Given the description of an element on the screen output the (x, y) to click on. 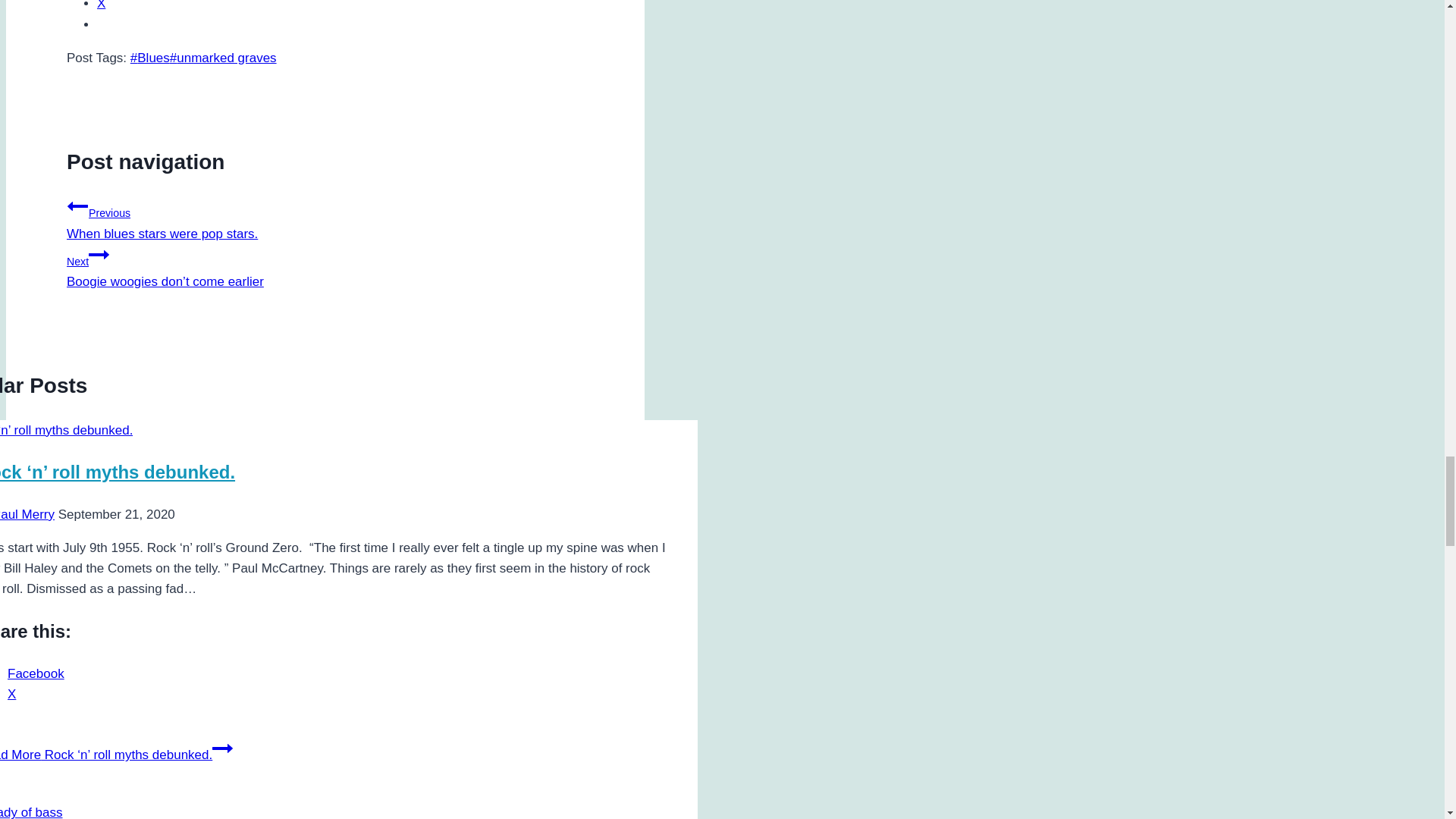
Facebook (35, 673)
Paul Merry (27, 513)
Continue (98, 254)
Click to share on Facebook (35, 673)
unmarked graves (223, 57)
Previous (77, 206)
Continue (222, 748)
Blues (150, 57)
